Given the description of an element on the screen output the (x, y) to click on. 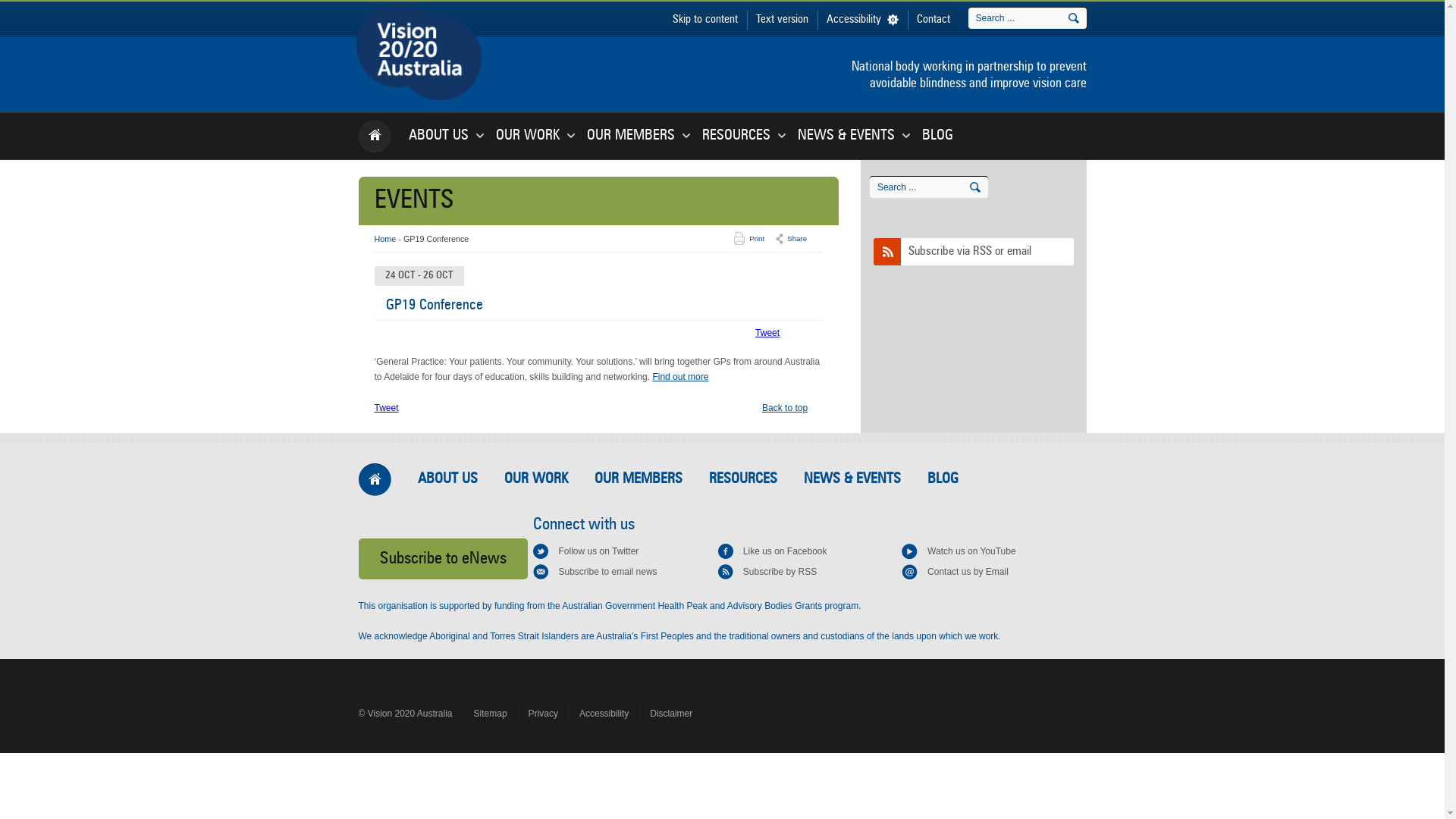
NEWS & EVENTS Element type: text (846, 135)
Subscribe to email news Element type: text (594, 571)
OUR WORK Element type: text (535, 479)
HOME Element type: text (373, 479)
Subscribe via RSS or email Element type: text (973, 251)
Tweet Element type: text (386, 407)
Search Element type: text (974, 187)
Find out more Element type: text (680, 376)
RESOURCES Element type: text (736, 135)
NEWS & EVENTS Element type: text (851, 479)
OUR MEMBERS Element type: text (638, 479)
ABOUT US Element type: text (437, 135)
Like us on Facebook Element type: text (772, 550)
Subscribe by RSS Element type: text (766, 571)
Disclaimer Element type: text (670, 713)
Accessibility Element type: text (603, 713)
ABOUT US Element type: text (446, 479)
Subscribe to eNews Element type: text (442, 558)
Watch us on YouTube Element type: text (958, 550)
OUR WORK Element type: text (527, 135)
Tweet Element type: text (767, 332)
RESOURCES Element type: text (742, 479)
Search Element type: text (1072, 18)
Skip to content Element type: text (704, 19)
Share Element type: text (796, 238)
Vision 2020 Australia Element type: text (394, 119)
Text version Element type: text (781, 19)
BLOG Element type: text (941, 479)
Sitemap Element type: text (490, 713)
Contact us by Email Element type: text (954, 571)
Accessibility Element type: text (862, 19)
Print Element type: text (756, 238)
OUR MEMBERS Element type: text (630, 135)
Privacy Element type: text (543, 713)
HOME Element type: text (373, 135)
Follow us on Twitter Element type: text (585, 550)
Contact Element type: text (932, 19)
Back to top Element type: text (784, 407)
BLOG Element type: text (937, 135)
Home Element type: text (385, 238)
